Given the description of an element on the screen output the (x, y) to click on. 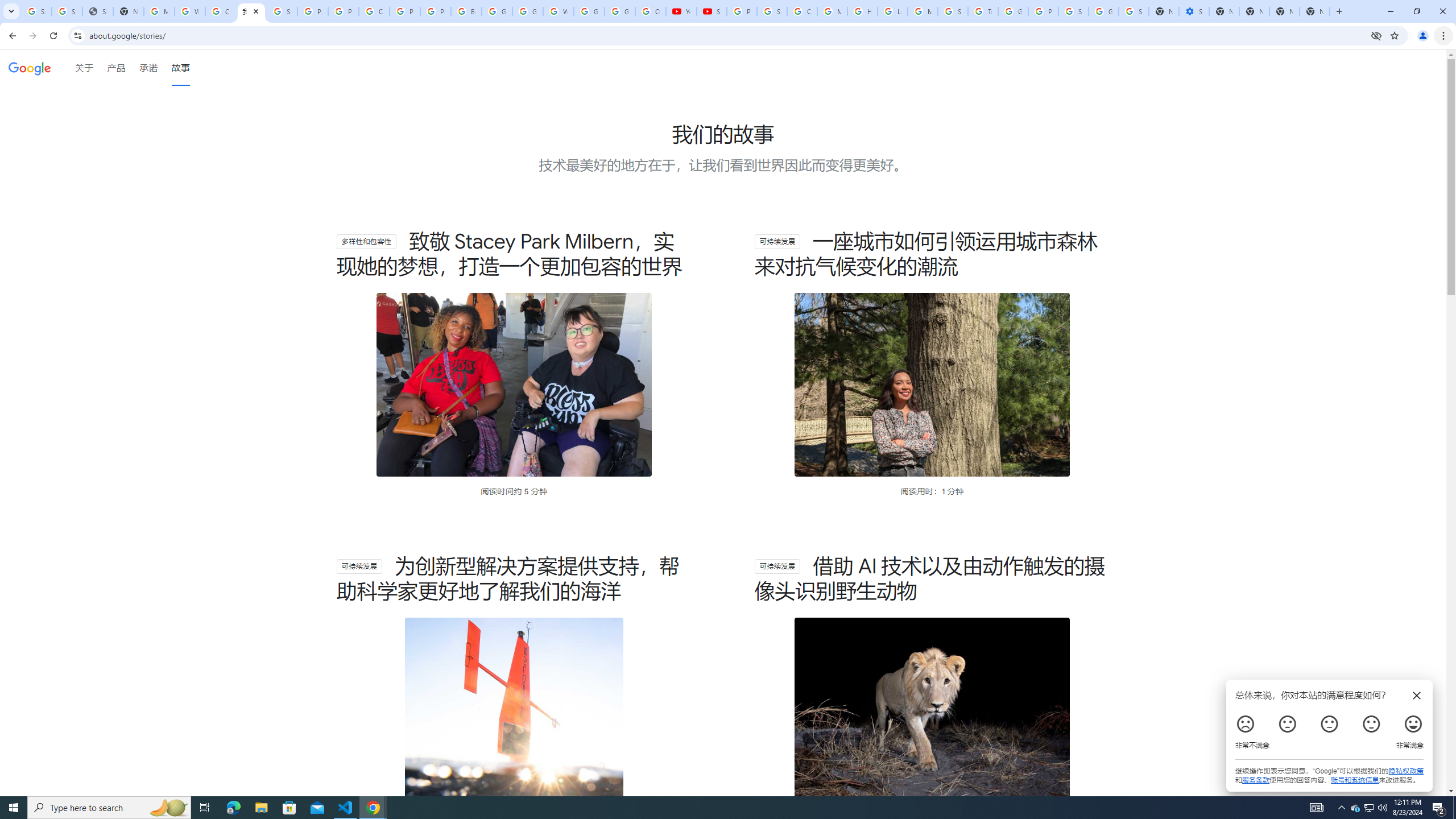
Sign in - Google Accounts (36, 11)
Welcome to My Activity (558, 11)
Who is my administrator? - Google Account Help (189, 11)
Google Slides: Sign-in (496, 11)
